Given the description of an element on the screen output the (x, y) to click on. 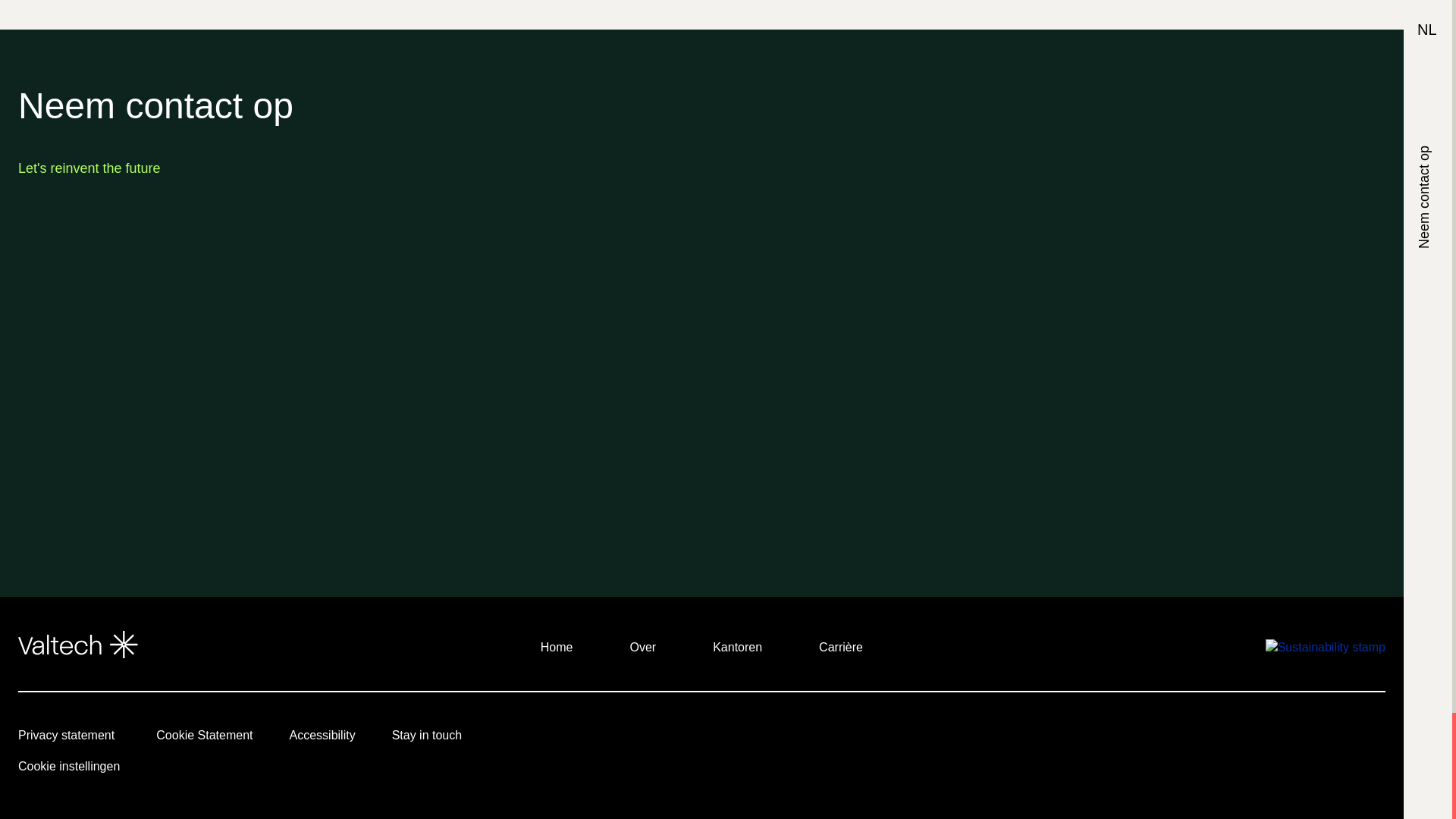
Instagram (1144, 739)
LinkedIn (1059, 739)
YouTube (1101, 739)
Valtech Logo (77, 644)
Spotify (1310, 739)
Apple Podcasts (1227, 739)
Sound Cloud (1269, 739)
Google Podcasts (1352, 739)
Sustainability stamp link (1325, 646)
Facebook (1184, 739)
